Given the description of an element on the screen output the (x, y) to click on. 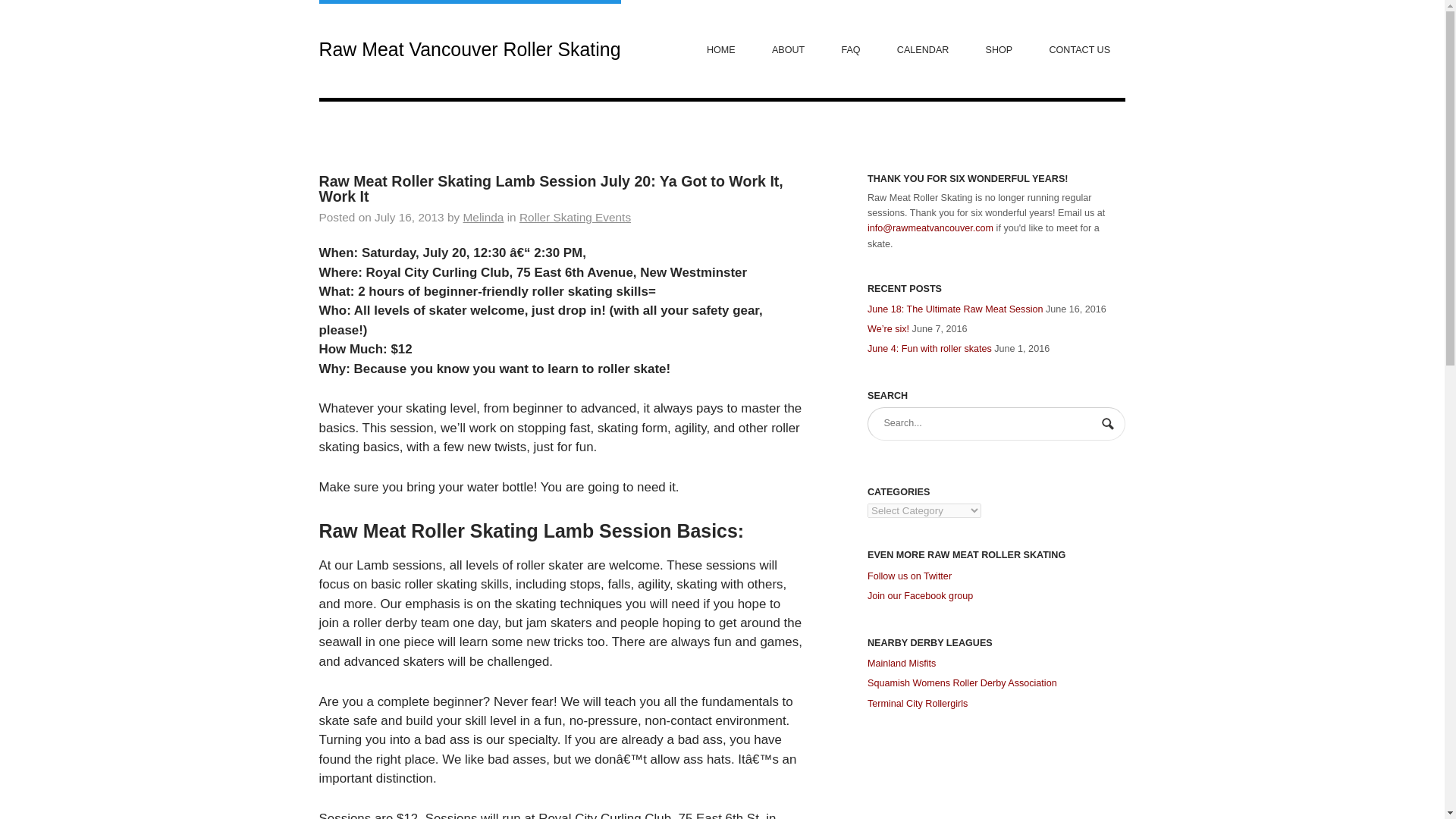
Mainland Misfits Roller Derby (901, 663)
Mainland Misfits (901, 663)
Search (1109, 425)
Terminal City Rollergirls (917, 703)
Follow us on Twitter (909, 575)
Search (1109, 425)
CONTACT US (1079, 48)
Melinda (483, 216)
Join our Facebook group (919, 595)
June 4: Fun with roller skates (929, 348)
Squamish Womens Roller Derby Association (962, 683)
Squamish Womens Roller Derby Association (962, 683)
June 18: The Ultimate Raw Meat Session (954, 308)
Search (1109, 425)
Terminal City Rollergirls (917, 703)
